Given the description of an element on the screen output the (x, y) to click on. 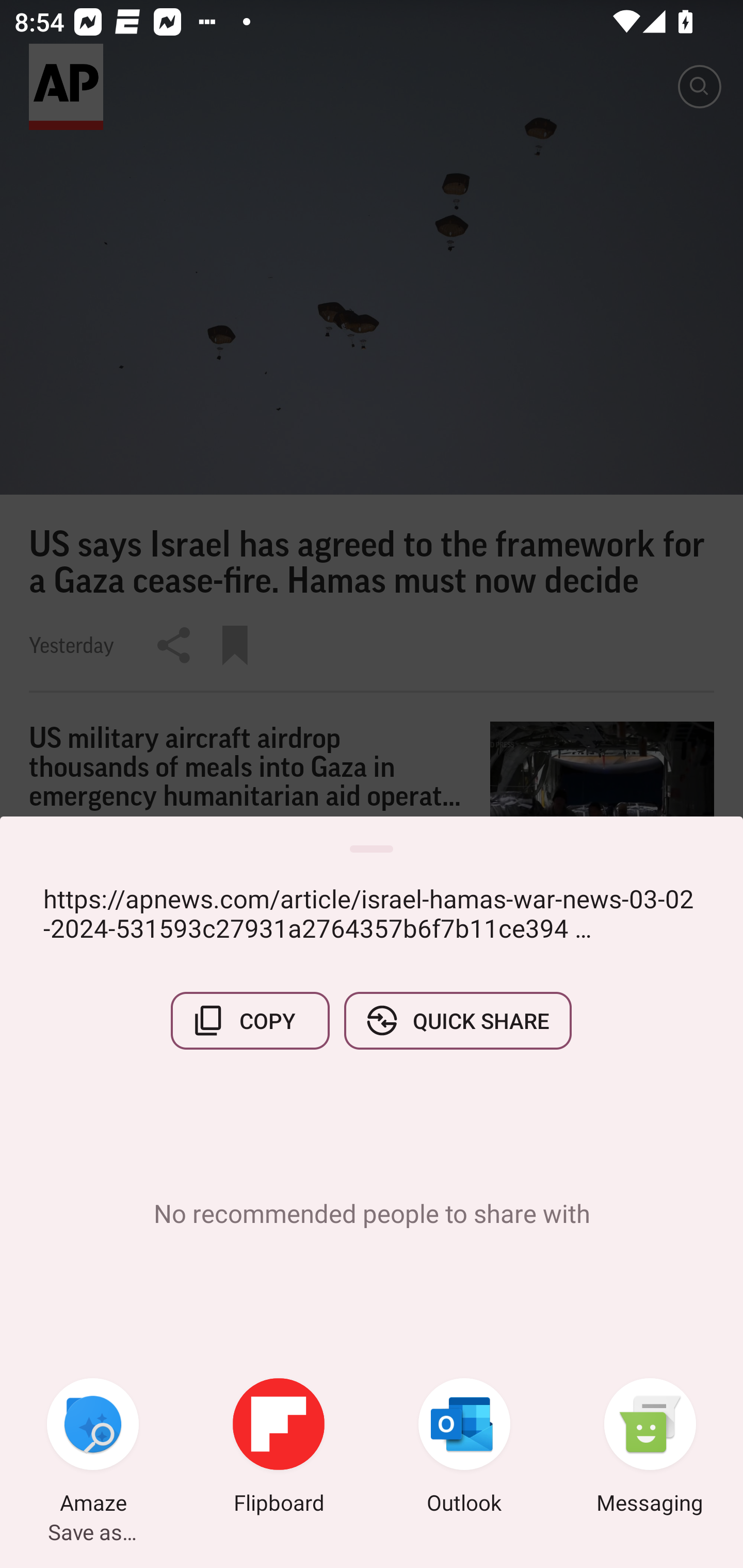
COPY (249, 1020)
QUICK SHARE (457, 1020)
Amaze Save as… (92, 1448)
Flipboard (278, 1448)
Outlook (464, 1448)
Messaging (650, 1448)
